Given the description of an element on the screen output the (x, y) to click on. 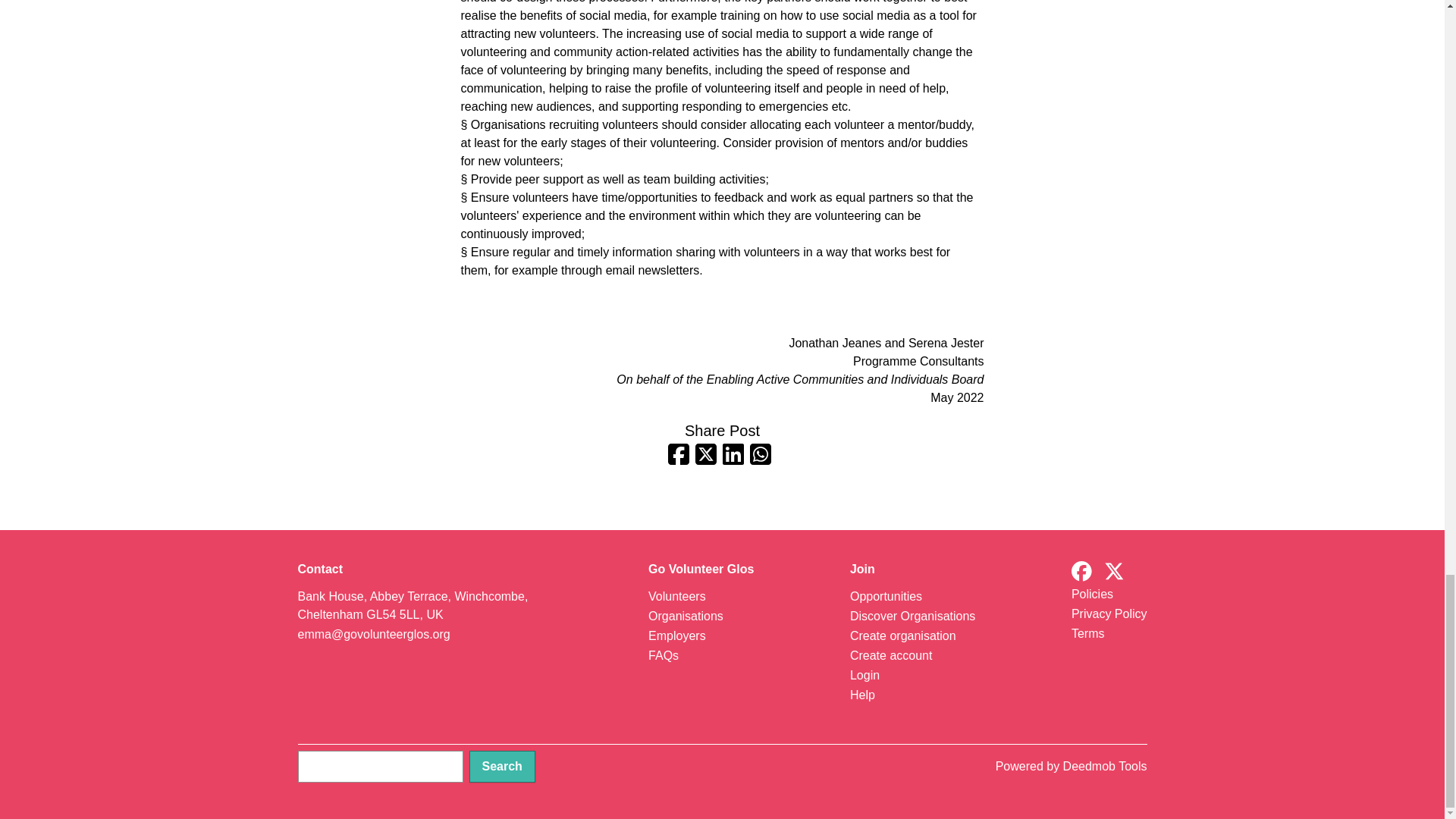
Privacy Policy (1109, 613)
FAQs (662, 655)
Employers (676, 635)
Discover Organisations (912, 615)
Create account (891, 655)
Opportunities (885, 595)
Help (862, 694)
Organisations (685, 615)
Create organisation (903, 635)
Search (501, 766)
Terms (1088, 633)
Login (864, 675)
Go Volunteer Glos Facebook (1081, 571)
Policies (1092, 594)
